Given the description of an element on the screen output the (x, y) to click on. 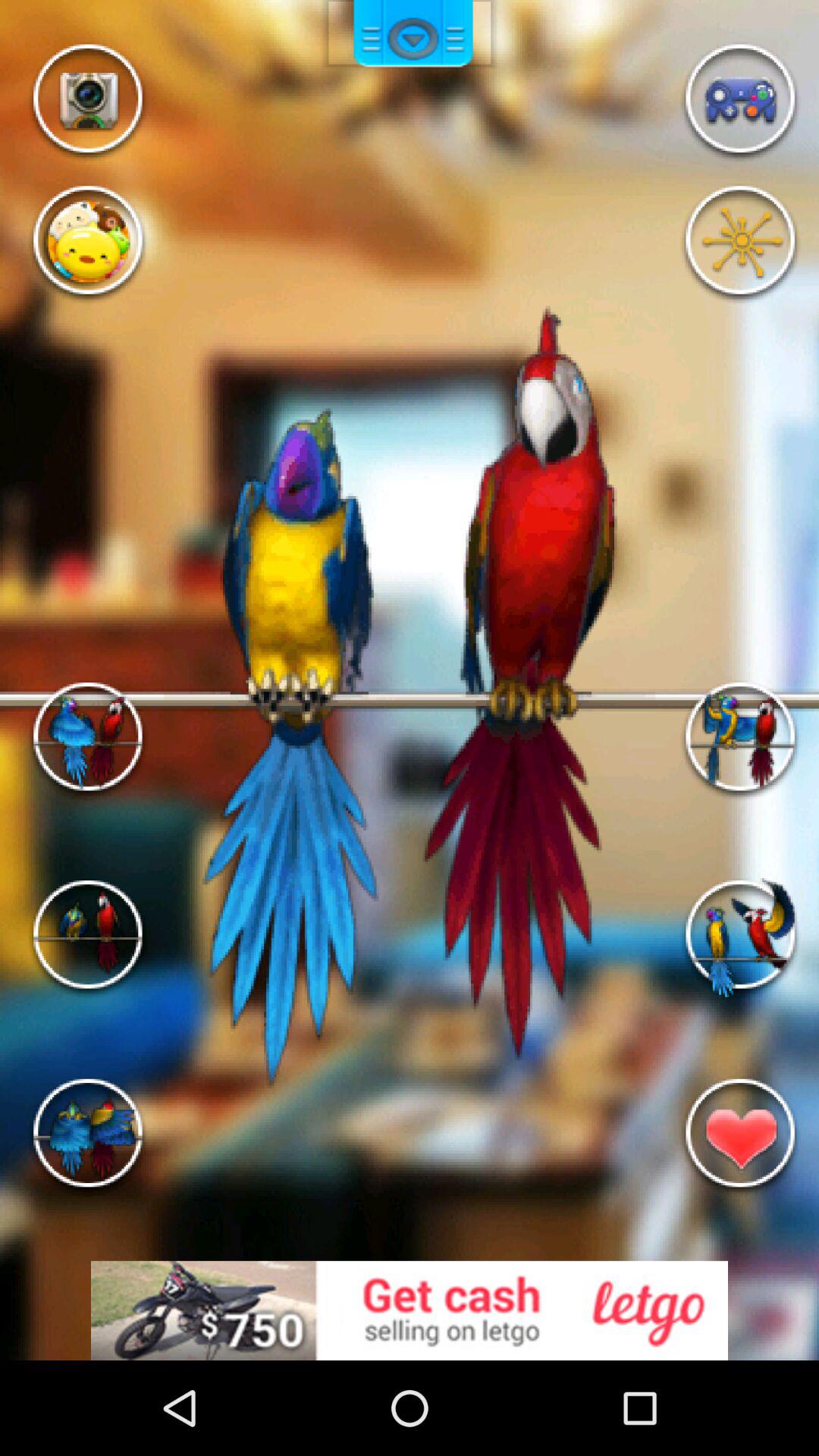
open advertisement page (409, 1310)
